Given the description of an element on the screen output the (x, y) to click on. 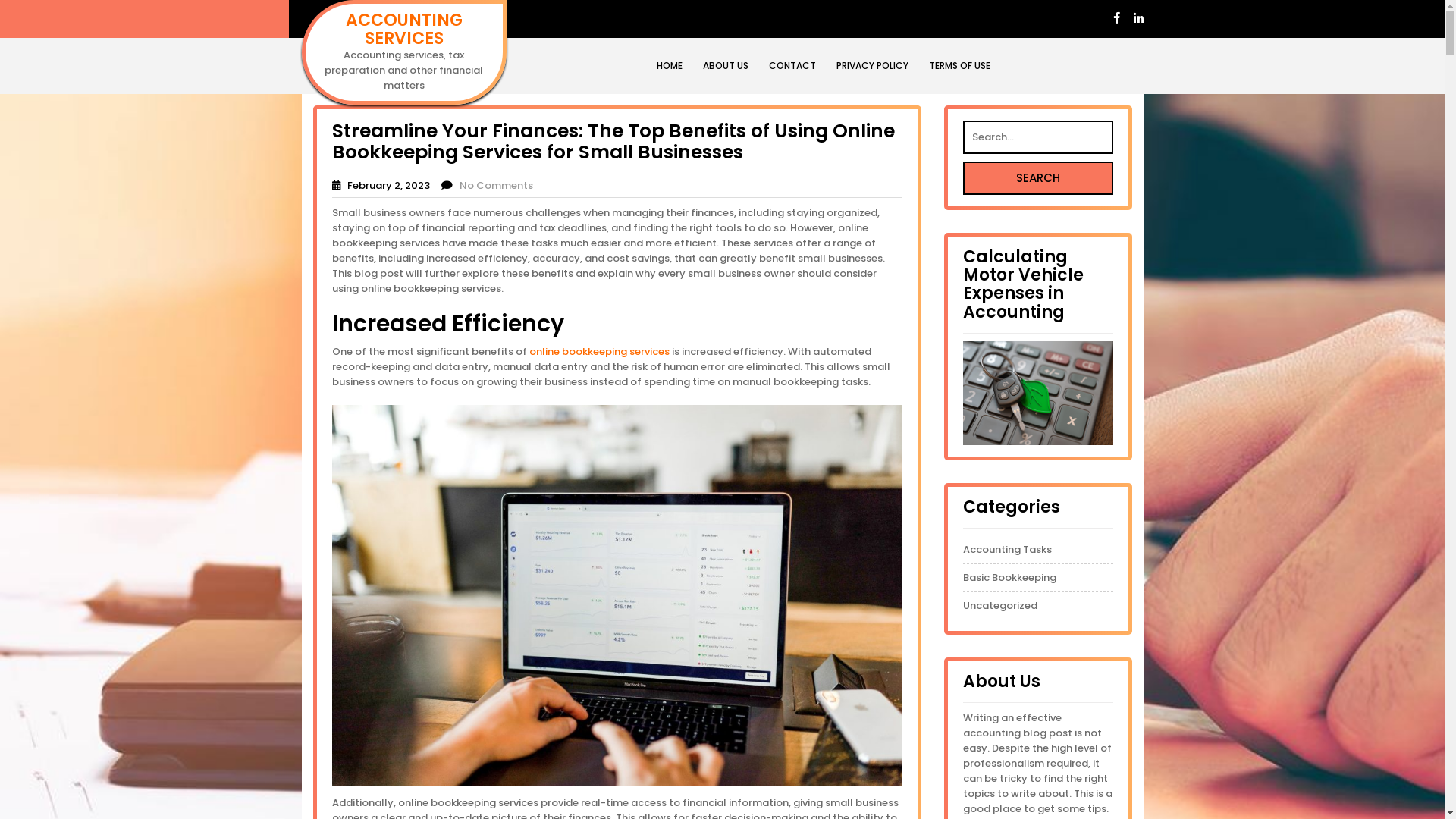
No Comments Element type: text (496, 185)
Search Element type: text (1038, 177)
CONTACT Element type: text (792, 65)
online bookkeeping services Element type: text (599, 351)
Accounting Tasks Element type: text (1007, 549)
HOME Element type: text (669, 65)
Basic Bookkeeping Element type: text (1009, 577)
ACCOUNTING SERVICES Element type: text (403, 29)
PRIVACY POLICY Element type: text (871, 65)
ABOUT US Element type: text (724, 65)
TERMS OF USE Element type: text (958, 65)
Uncategorized Element type: text (1000, 605)
